Given the description of an element on the screen output the (x, y) to click on. 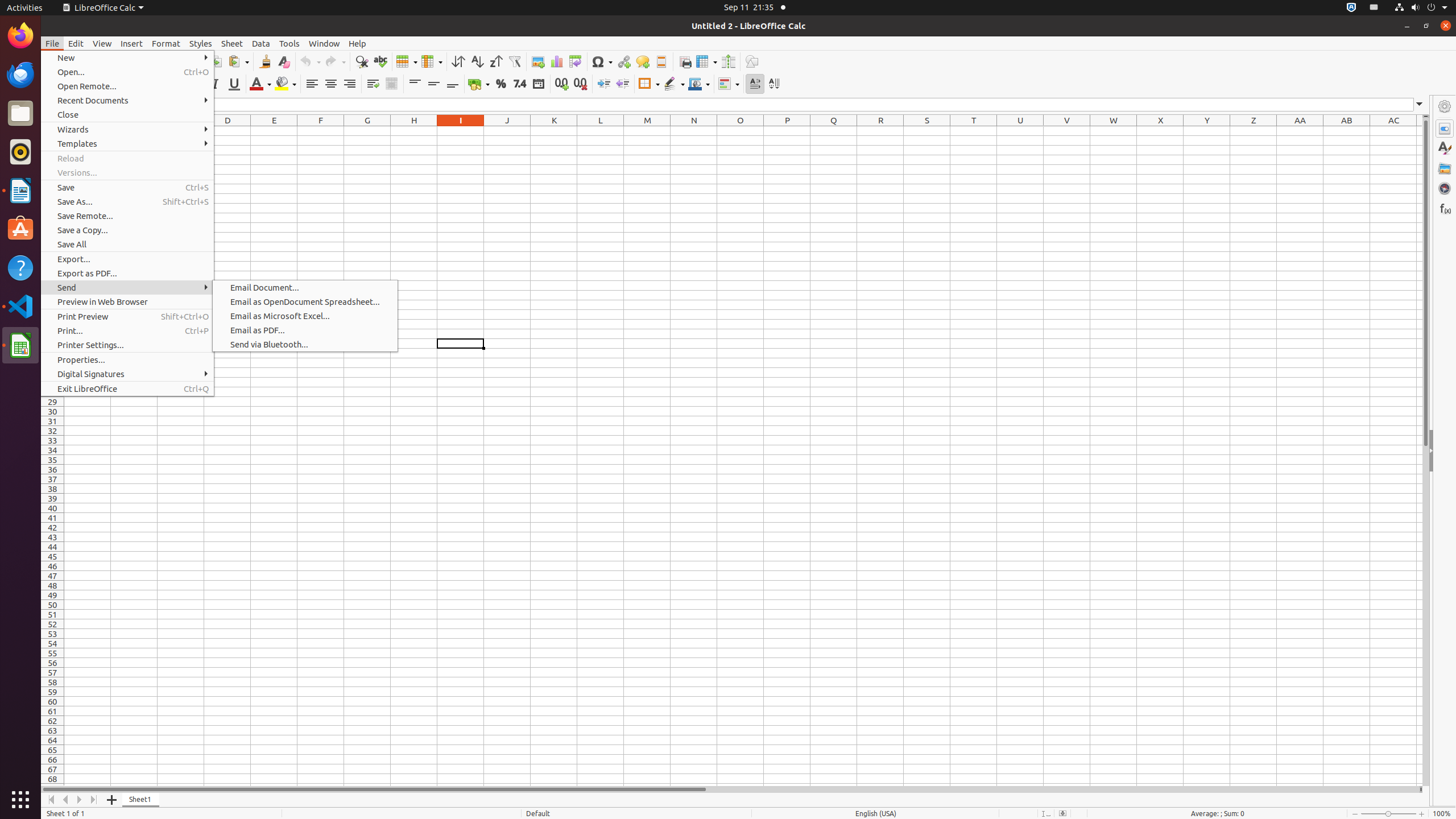
Email Document... Element type: menu-item (304, 287)
Column Element type: push-button (431, 61)
Row Element type: push-button (406, 61)
Tools Element type: menu (289, 43)
Delete Decimal Place Element type: push-button (580, 83)
